Given the description of an element on the screen output the (x, y) to click on. 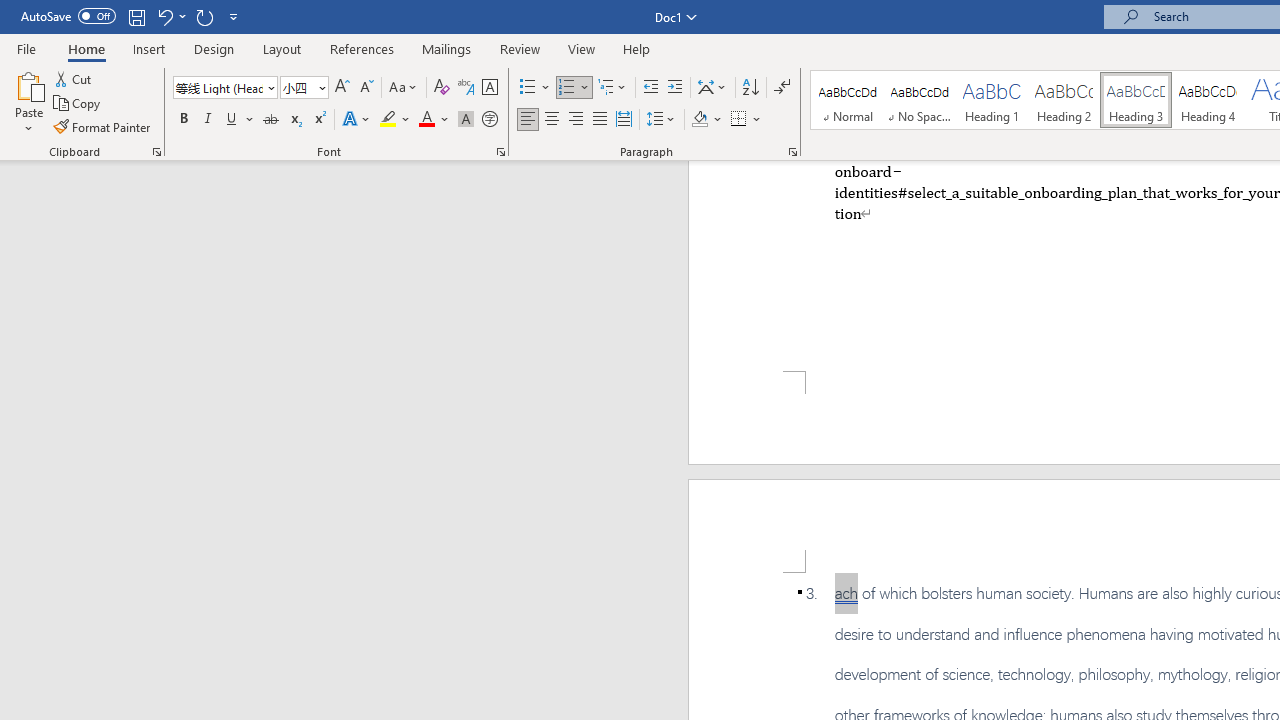
Character Border (489, 87)
Bold (183, 119)
Align Left (527, 119)
Undo Apply Quick Style (170, 15)
Quick Access Toolbar (131, 16)
File Tab (26, 48)
Sort... (750, 87)
Layout (282, 48)
Mailings (447, 48)
Phonetic Guide... (465, 87)
Text Highlight Color Yellow (388, 119)
